Given the description of an element on the screen output the (x, y) to click on. 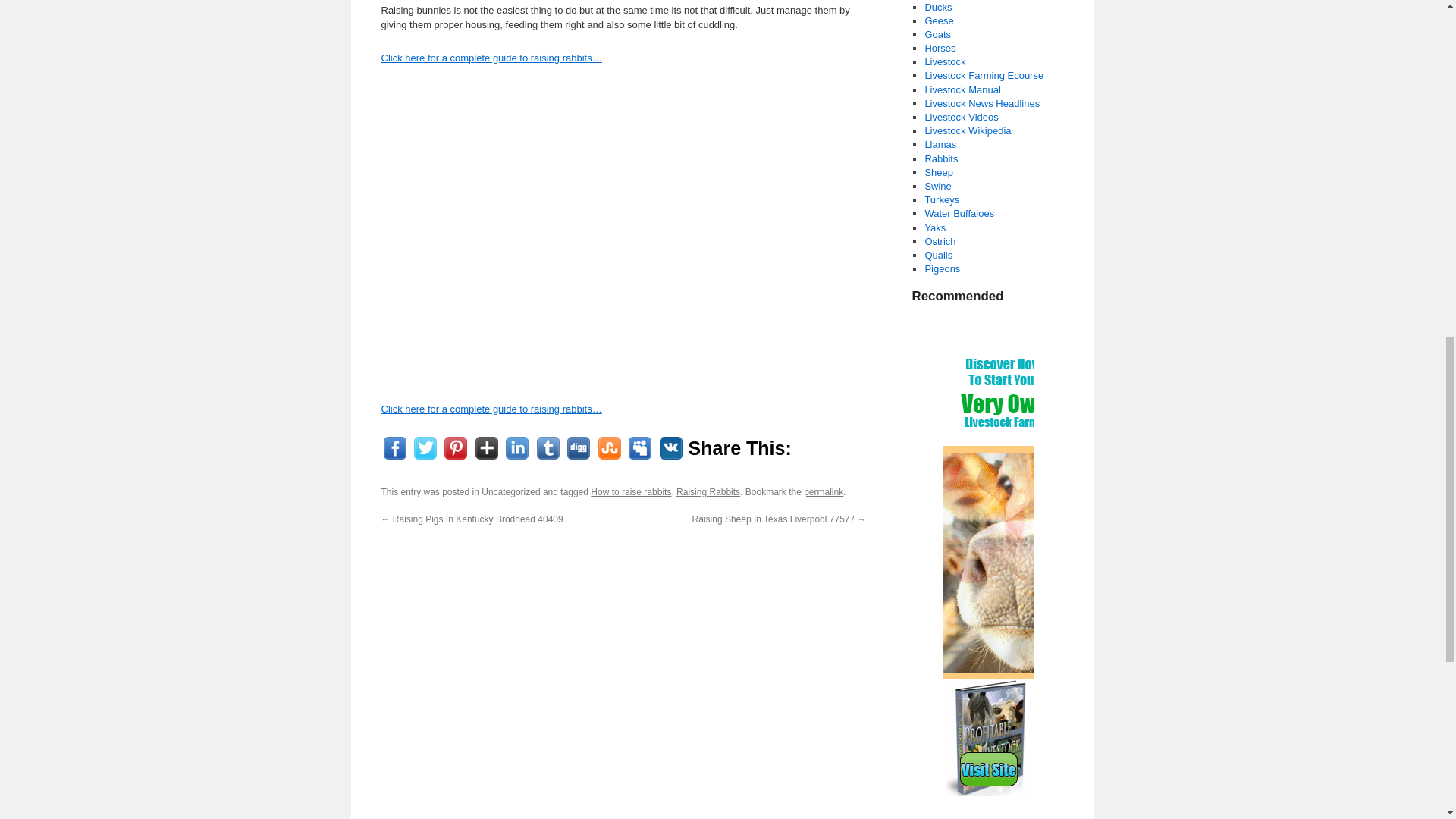
How to raise rabbits (631, 491)
permalink (823, 491)
Raising Rabbits (708, 491)
